Given the description of an element on the screen output the (x, y) to click on. 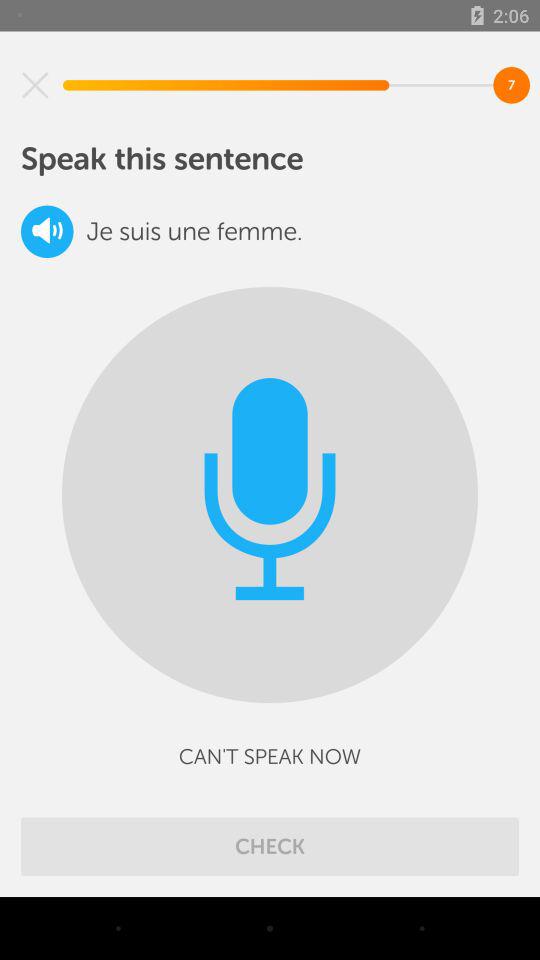
swipe until the check item (270, 846)
